Given the description of an element on the screen output the (x, y) to click on. 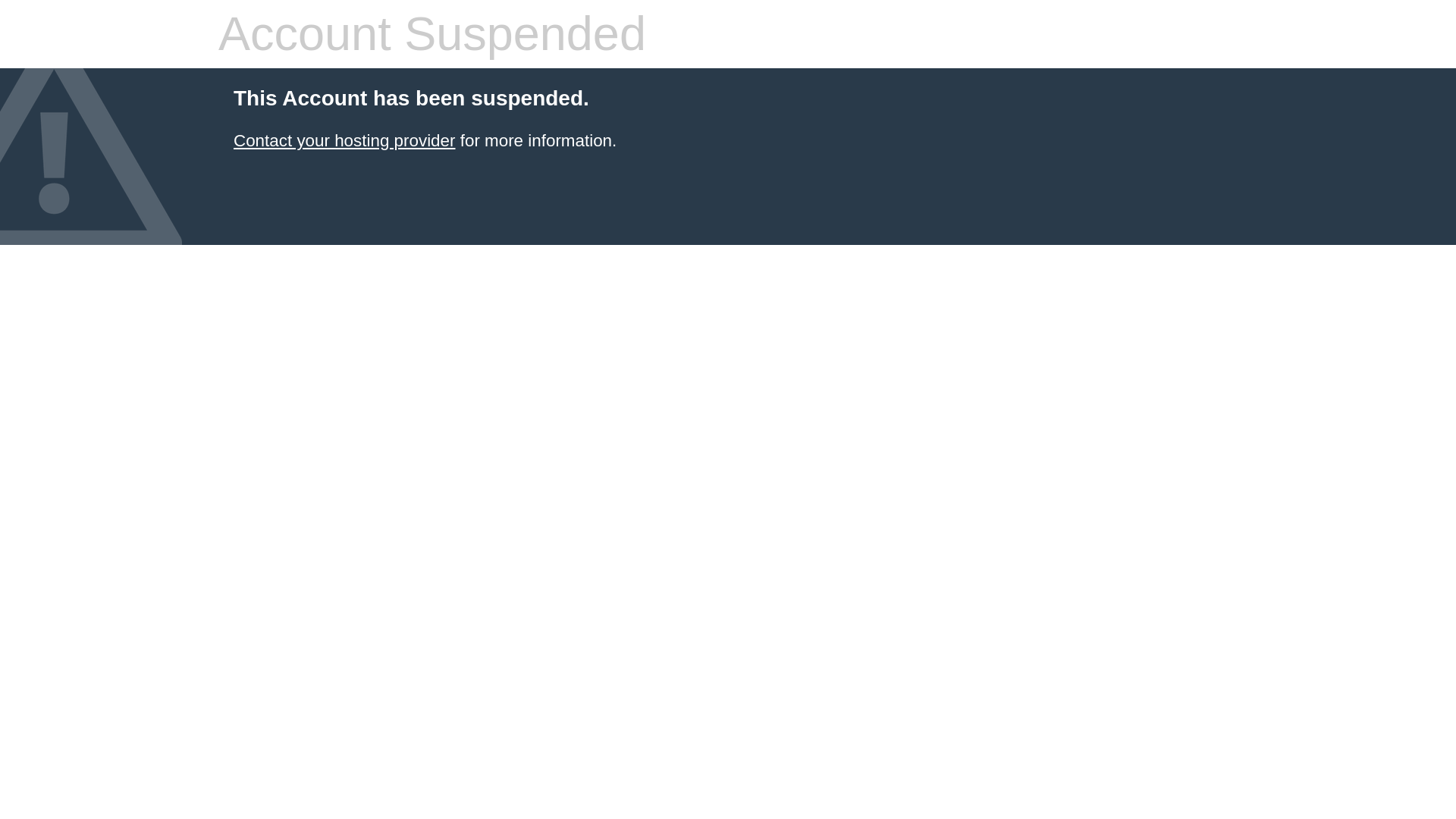
Contact your hosting provider (343, 140)
